Given the description of an element on the screen output the (x, y) to click on. 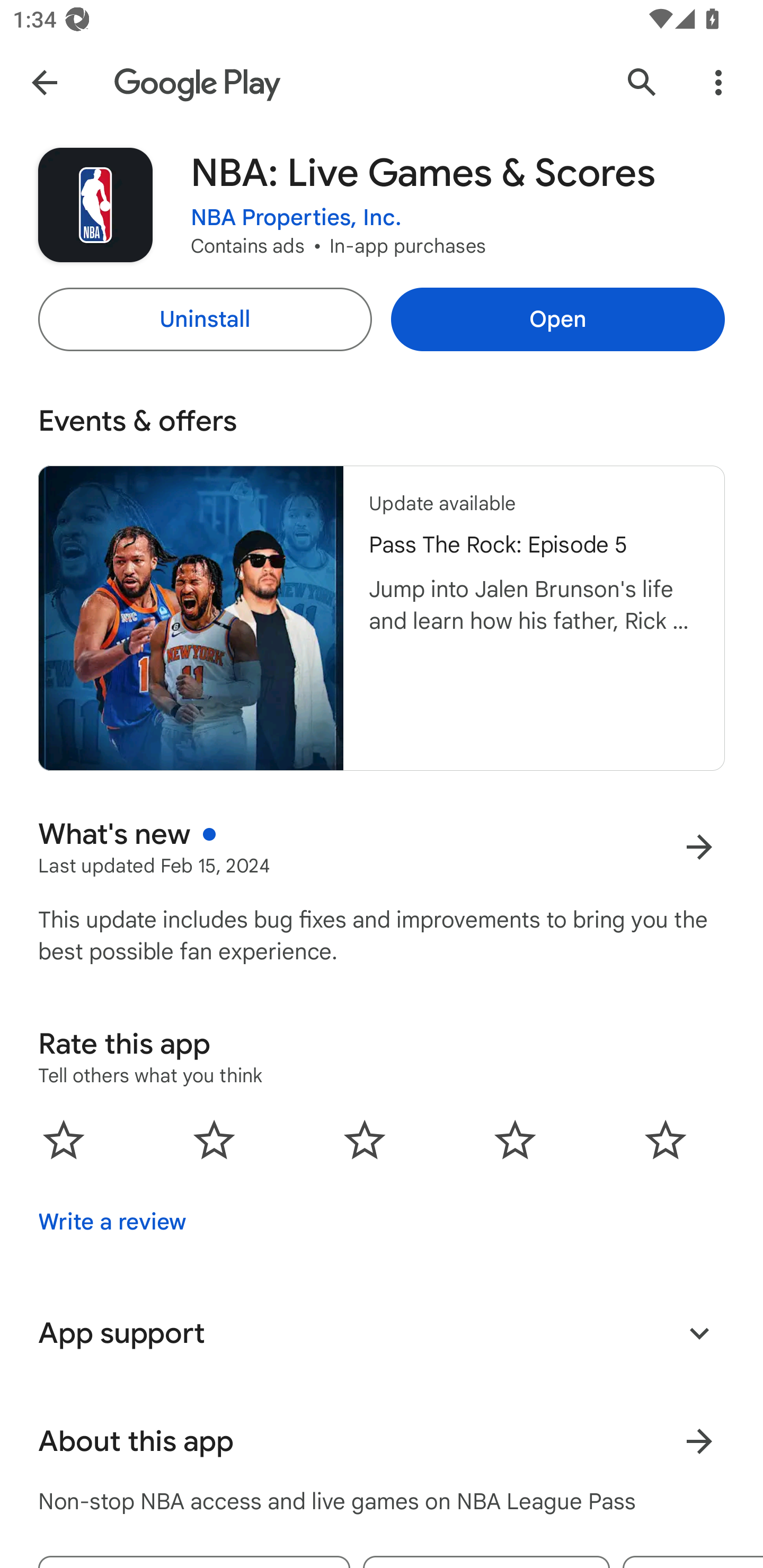
Navigate up (44, 81)
Search Google Play (642, 81)
More Options (718, 81)
NBA Properties, Inc. (295, 217)
Uninstall (205, 318)
Open (557, 318)
More results for What's new (699, 847)
0.0 (364, 1138)
Write a review (112, 1221)
App support Expand (381, 1333)
Expand (699, 1333)
About this app Learn more About this app (381, 1441)
Learn more About this app (699, 1441)
